Given the description of an element on the screen output the (x, y) to click on. 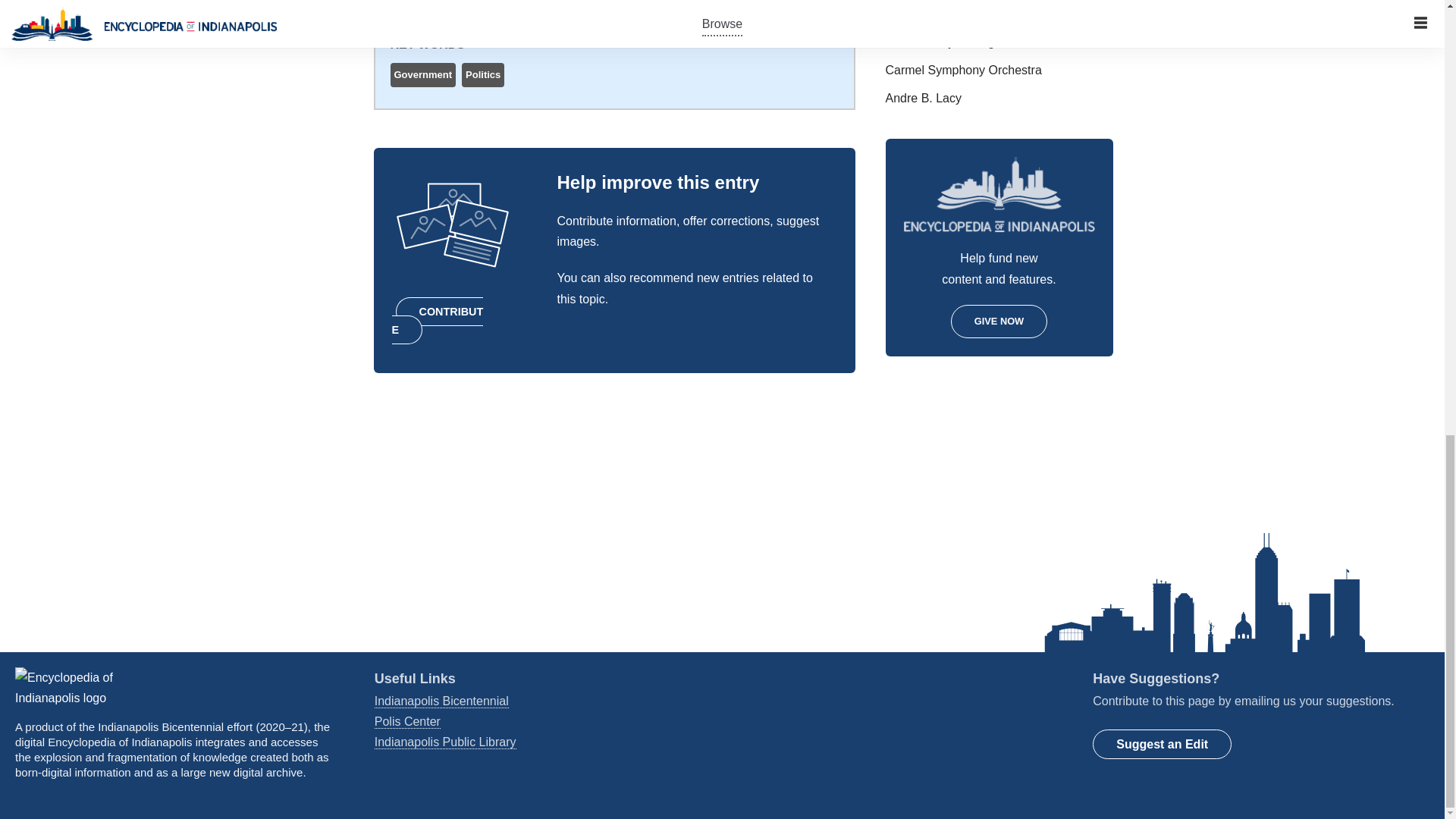
Politics (482, 74)
Indy Encyclopedia - Instagram (759, 676)
CONTRIBUTE (437, 320)
Indy Encyclopedia - Facebook (741, 676)
Government (423, 74)
